Given the description of an element on the screen output the (x, y) to click on. 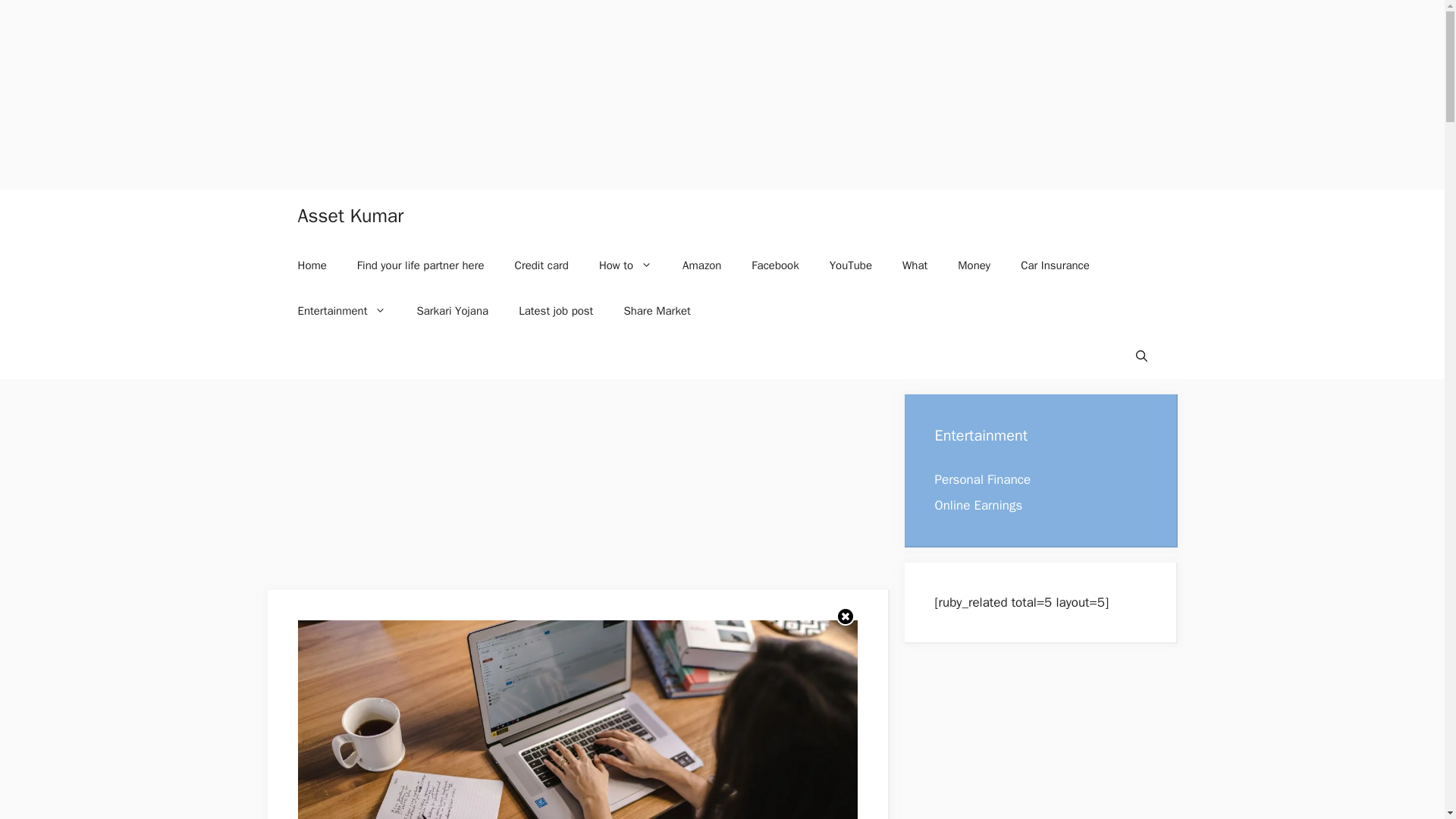
Find your life partner here (420, 265)
Amazon (701, 265)
Sarkari Yojana (452, 310)
What (914, 265)
Home (311, 265)
Personal Finance (982, 479)
YouTube (849, 265)
Share Market (656, 310)
Entertainment (341, 310)
Money (974, 265)
